Given the description of an element on the screen output the (x, y) to click on. 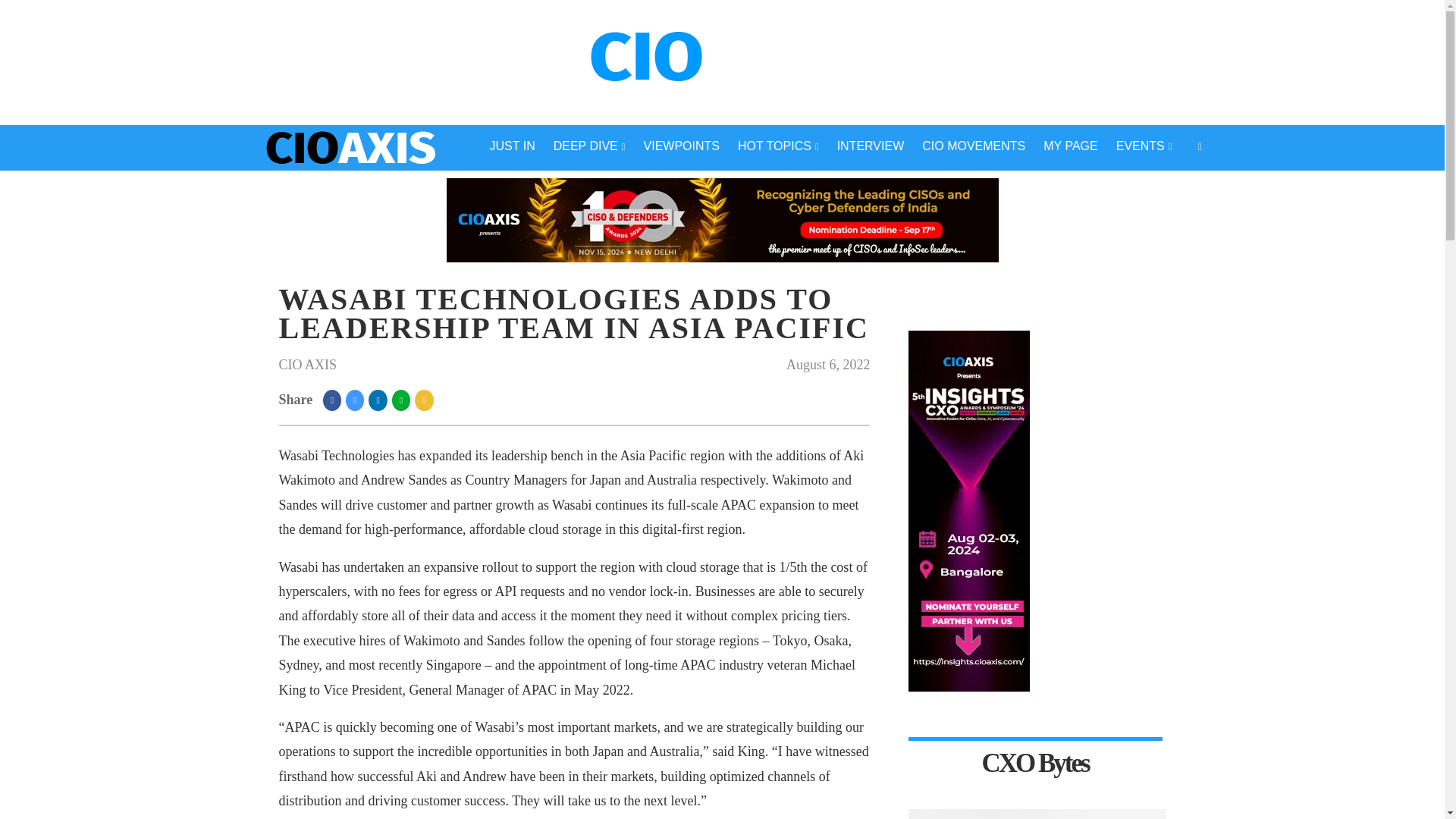
CIO AXIS (308, 364)
MY PAGE (1069, 146)
DEEP DIVE (589, 146)
EVENTS (1143, 146)
5 Major SaaS Trends to Check Out in 2021 (1037, 813)
VIEWPOINTS (681, 146)
JUST IN (512, 146)
INTERVIEW (871, 146)
CIO MOVEMENTS (972, 146)
HOT TOPICS (778, 146)
